Given the description of an element on the screen output the (x, y) to click on. 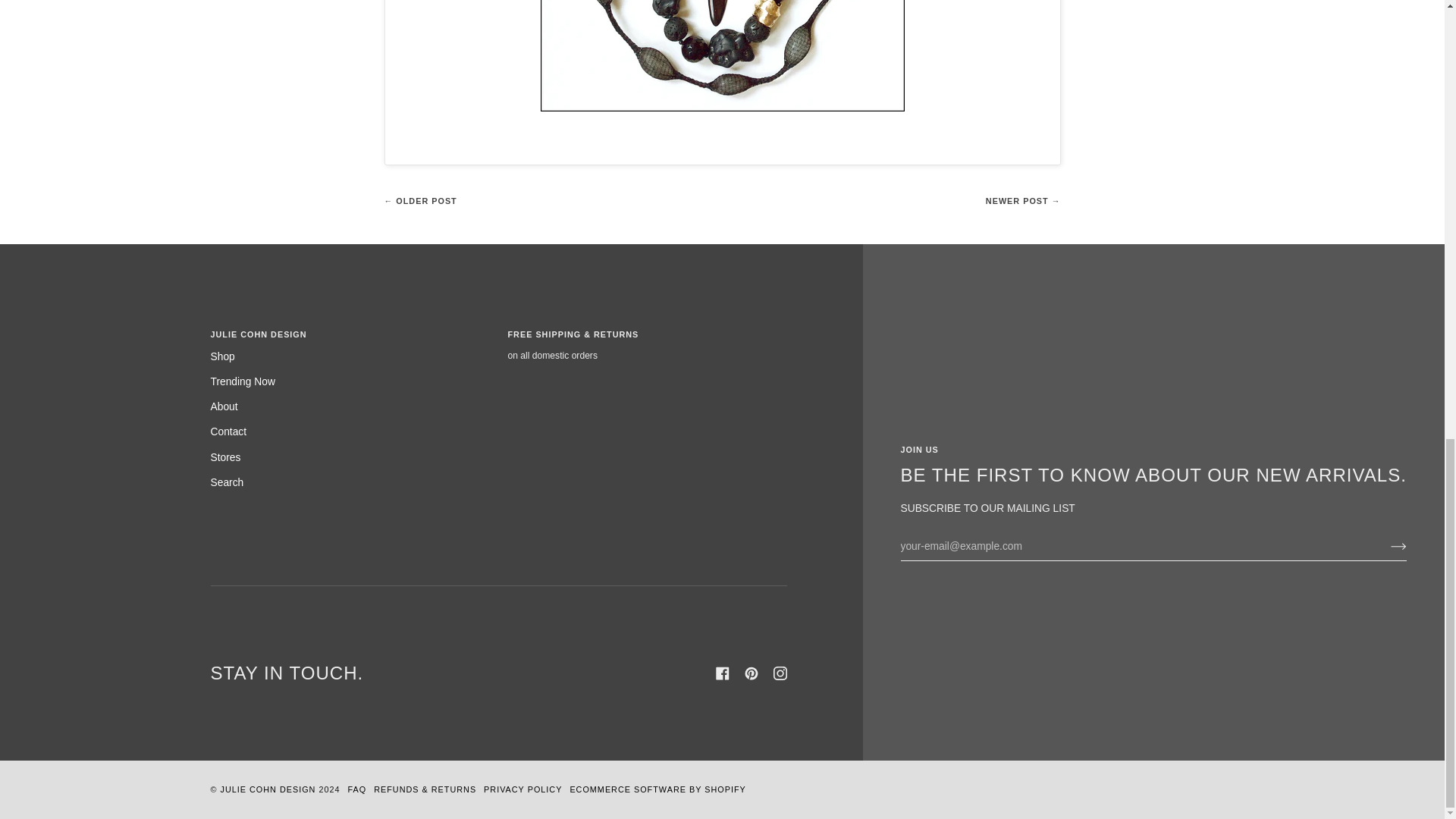
Facebook (722, 673)
Pinterest (751, 673)
Instagram (780, 673)
